Given the description of an element on the screen output the (x, y) to click on. 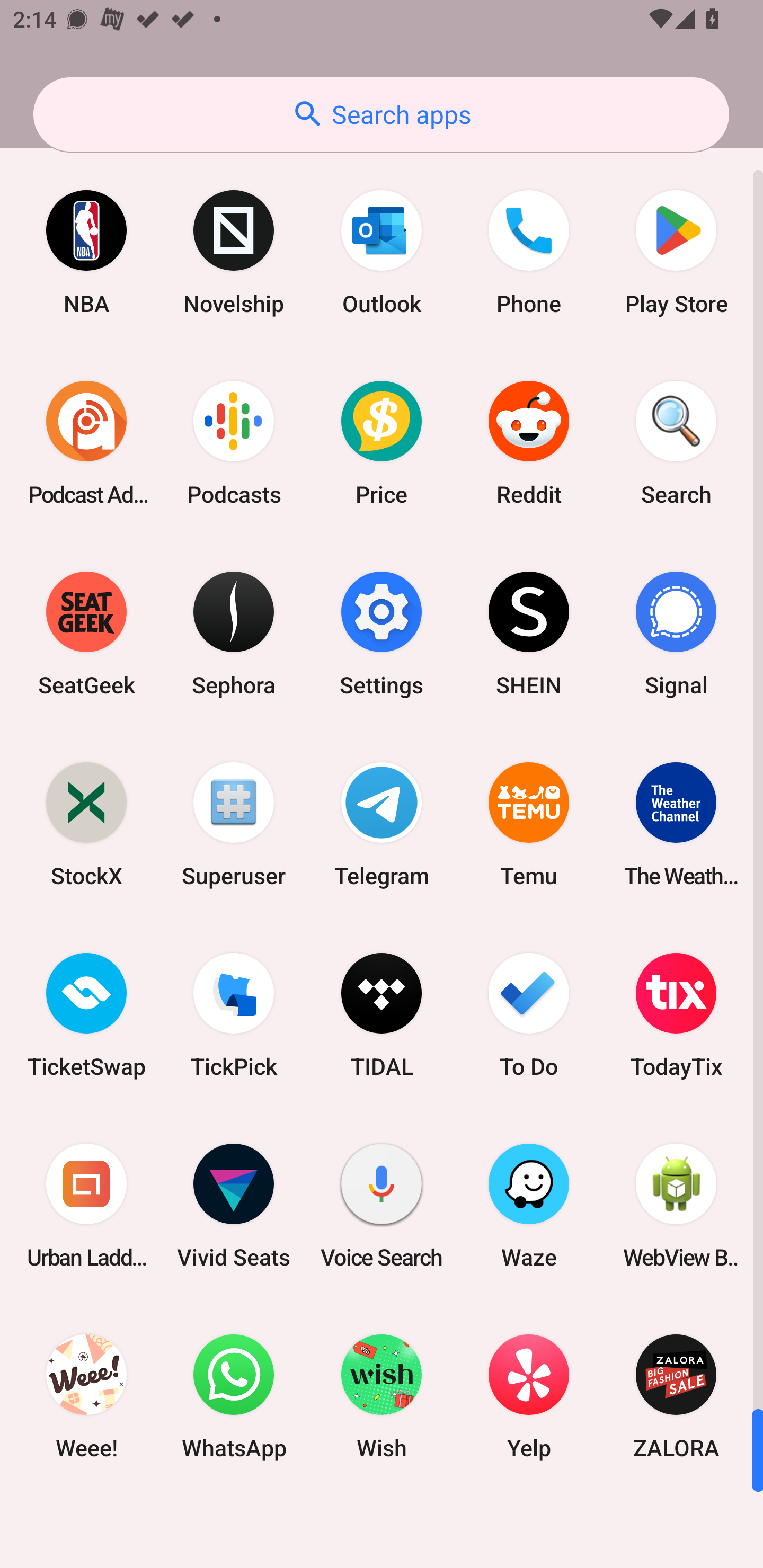
Signal (676, 633)
